Given the description of an element on the screen output the (x, y) to click on. 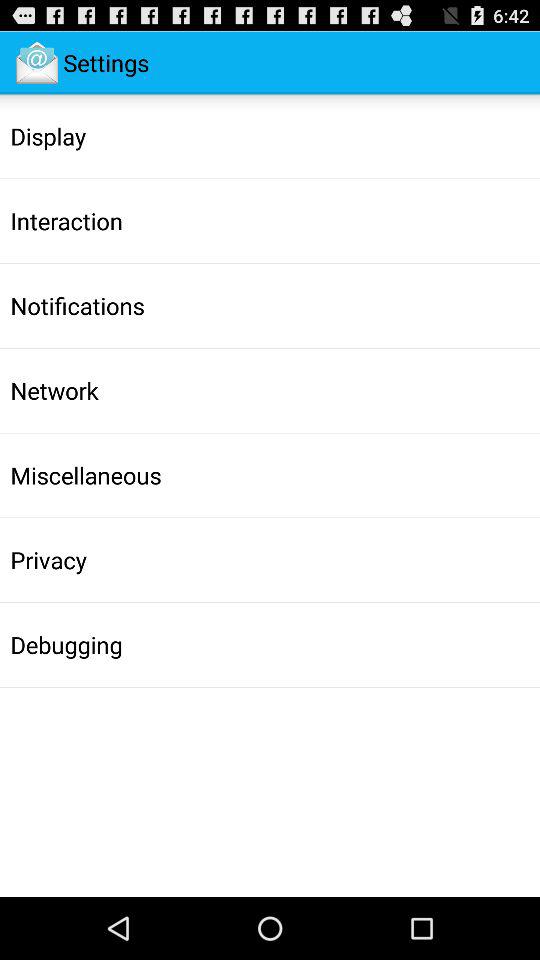
turn off interaction icon (66, 221)
